Given the description of an element on the screen output the (x, y) to click on. 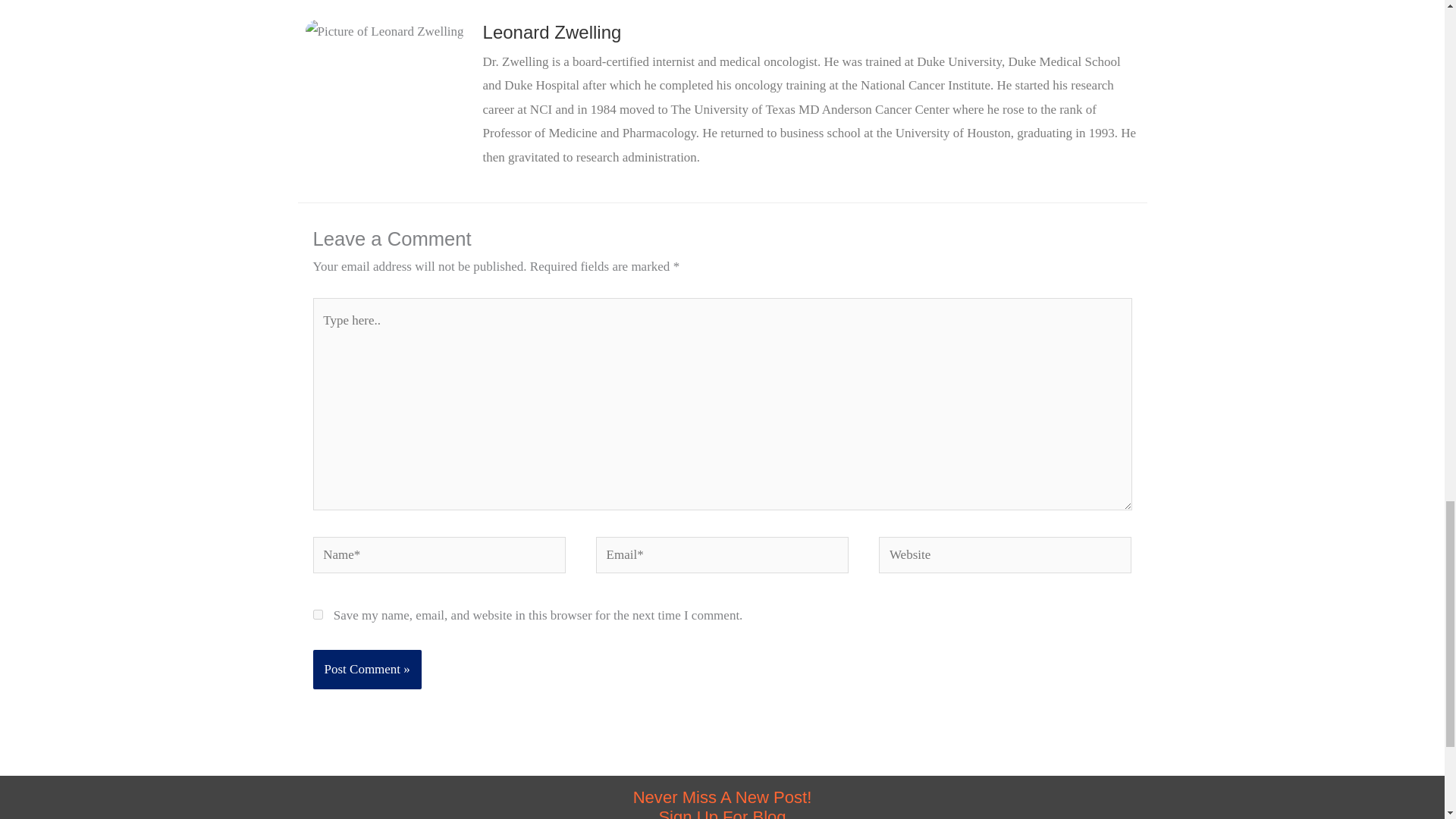
yes (317, 614)
